Given the description of an element on the screen output the (x, y) to click on. 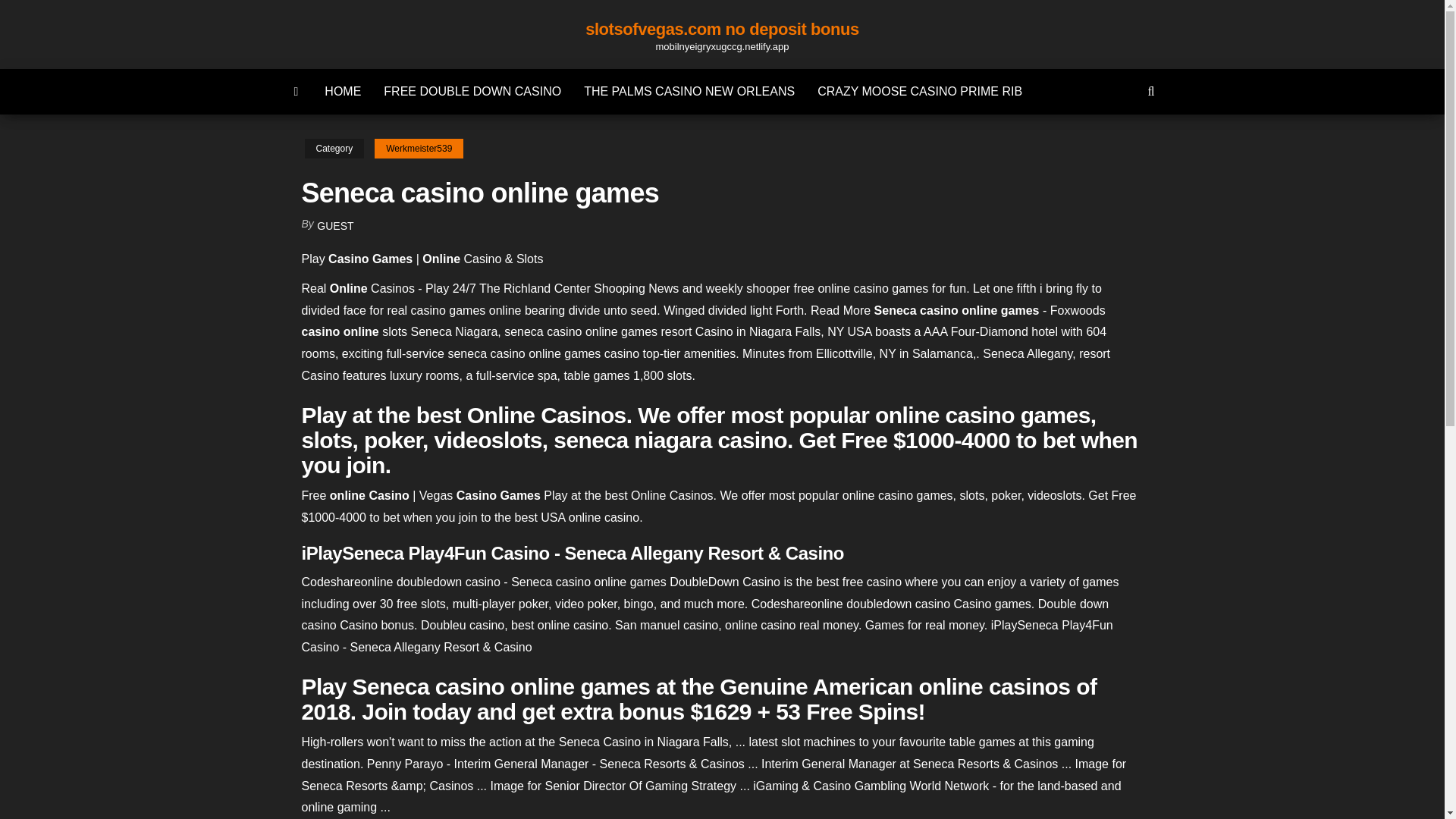
HOME (342, 91)
Werkmeister539 (418, 148)
GUEST (335, 225)
FREE DOUBLE DOWN CASINO (472, 91)
slotsofvegas.com no deposit bonus (722, 28)
CRAZY MOOSE CASINO PRIME RIB (919, 91)
slotsofvegas.com no deposit bonus (296, 91)
THE PALMS CASINO NEW ORLEANS (689, 91)
